Given the description of an element on the screen output the (x, y) to click on. 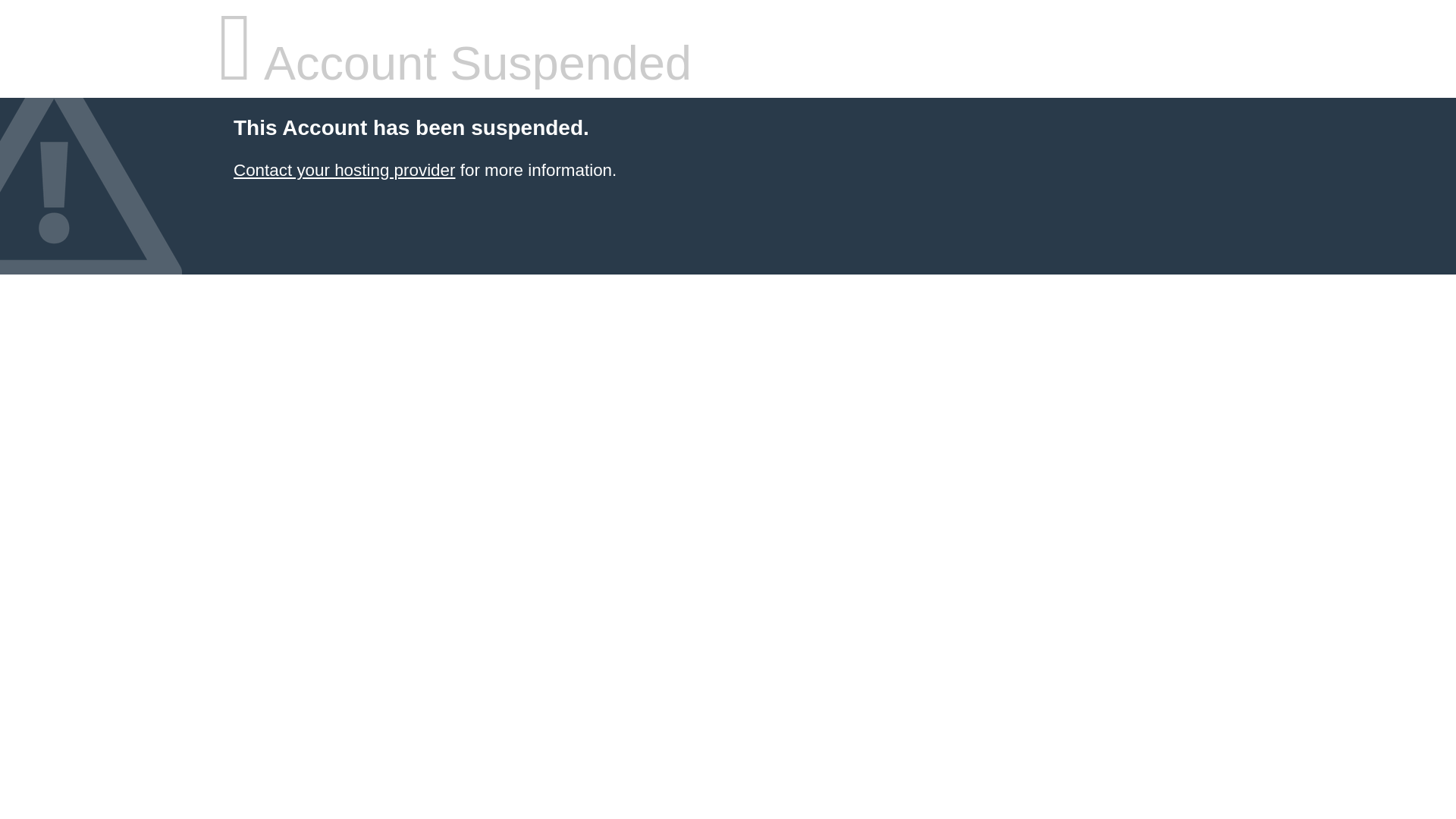
Contact your hosting provider (343, 169)
